Given the description of an element on the screen output the (x, y) to click on. 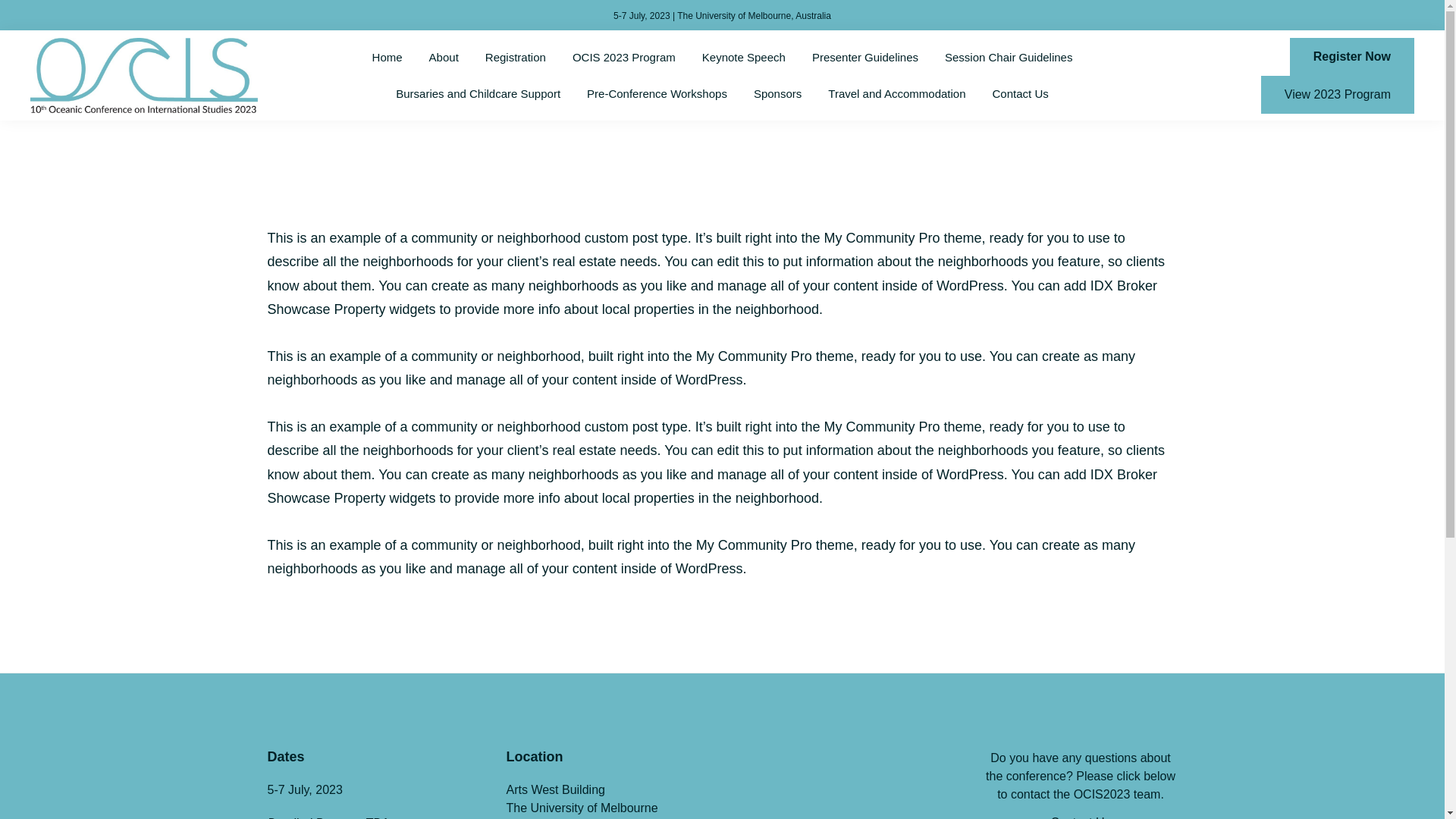
Presenter Guidelines Element type: text (864, 57)
Sponsors Element type: text (777, 93)
Session Chair Guidelines Element type: text (1008, 57)
Skip to primary navigation Element type: text (0, 0)
Contact Us Element type: text (1020, 93)
Register Now Element type: text (1351, 56)
About Element type: text (443, 57)
Home Element type: text (387, 57)
View 2023 Program Element type: text (1337, 94)
Keynote Speech Element type: text (743, 57)
Registration Element type: text (515, 57)
Bursaries and Childcare Support Element type: text (477, 93)
OCIS 2023 Program Element type: text (624, 57)
Pre-Conference Workshops Element type: text (656, 93)
Travel and Accommodation Element type: text (896, 93)
